Given the description of an element on the screen output the (x, y) to click on. 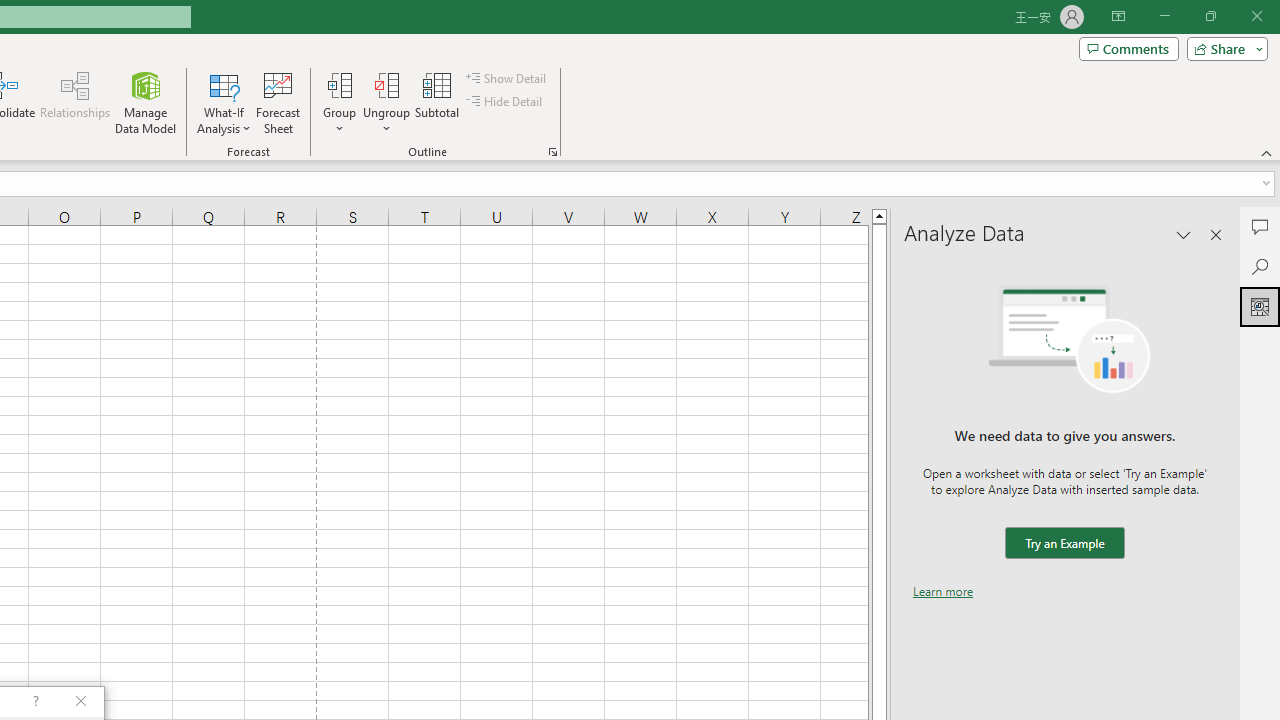
Group and Outline Settings (552, 151)
Learn more (943, 591)
Close pane (1215, 234)
Collapse the Ribbon (1267, 152)
Manage Data Model (145, 102)
Line up (879, 215)
Close (1256, 16)
Group... (339, 84)
Subtotal (437, 102)
Analyze Data (1260, 306)
Minimize (1164, 16)
Hide Detail (505, 101)
Comments (1260, 226)
Forecast Sheet (278, 102)
Comments (1128, 48)
